Given the description of an element on the screen output the (x, y) to click on. 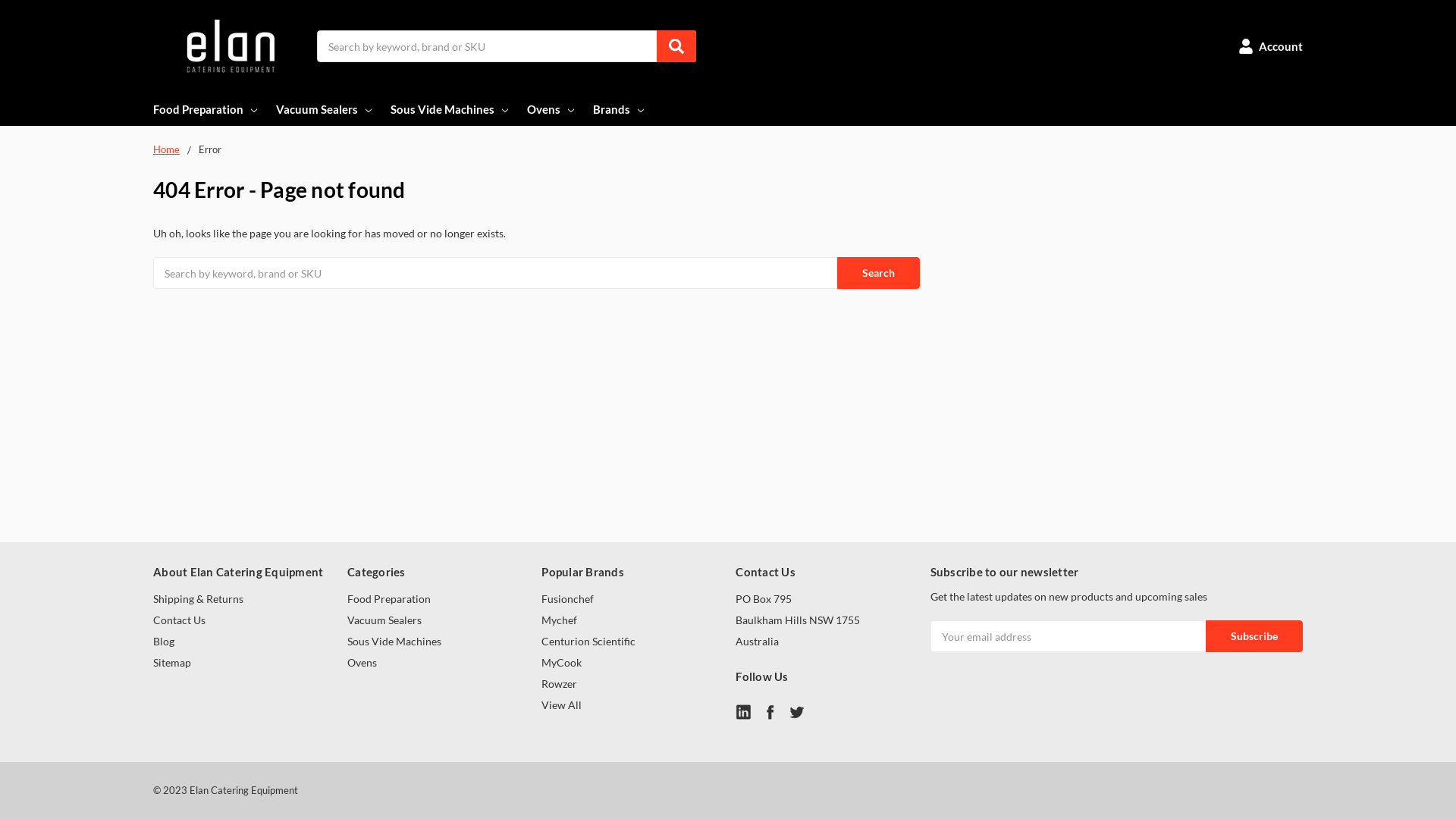
Rowzer Element type: text (559, 683)
Mychef Element type: text (559, 619)
Subscribe Element type: text (1253, 636)
Account Element type: text (1270, 45)
Sous Vide Machines Element type: text (394, 640)
Sous Vide Machines Element type: text (450, 108)
Blog Element type: text (163, 640)
Vacuum Sealers Element type: text (325, 108)
Ovens Element type: text (361, 661)
Search Element type: text (878, 272)
Sitemap Element type: text (172, 661)
Food Preparation Element type: text (388, 598)
MyCook Element type: text (561, 661)
Shipping & Returns Element type: text (198, 598)
Contact Us Element type: text (179, 619)
Brands Element type: text (619, 108)
View All Element type: text (561, 704)
Fusionchef Element type: text (567, 598)
Home Element type: text (166, 149)
Ovens Element type: text (552, 108)
Elan Catering Equipment Element type: hover (228, 45)
Centurion Scientific Element type: text (588, 640)
Food Preparation Element type: text (206, 108)
Vacuum Sealers Element type: text (384, 619)
